Given the description of an element on the screen output the (x, y) to click on. 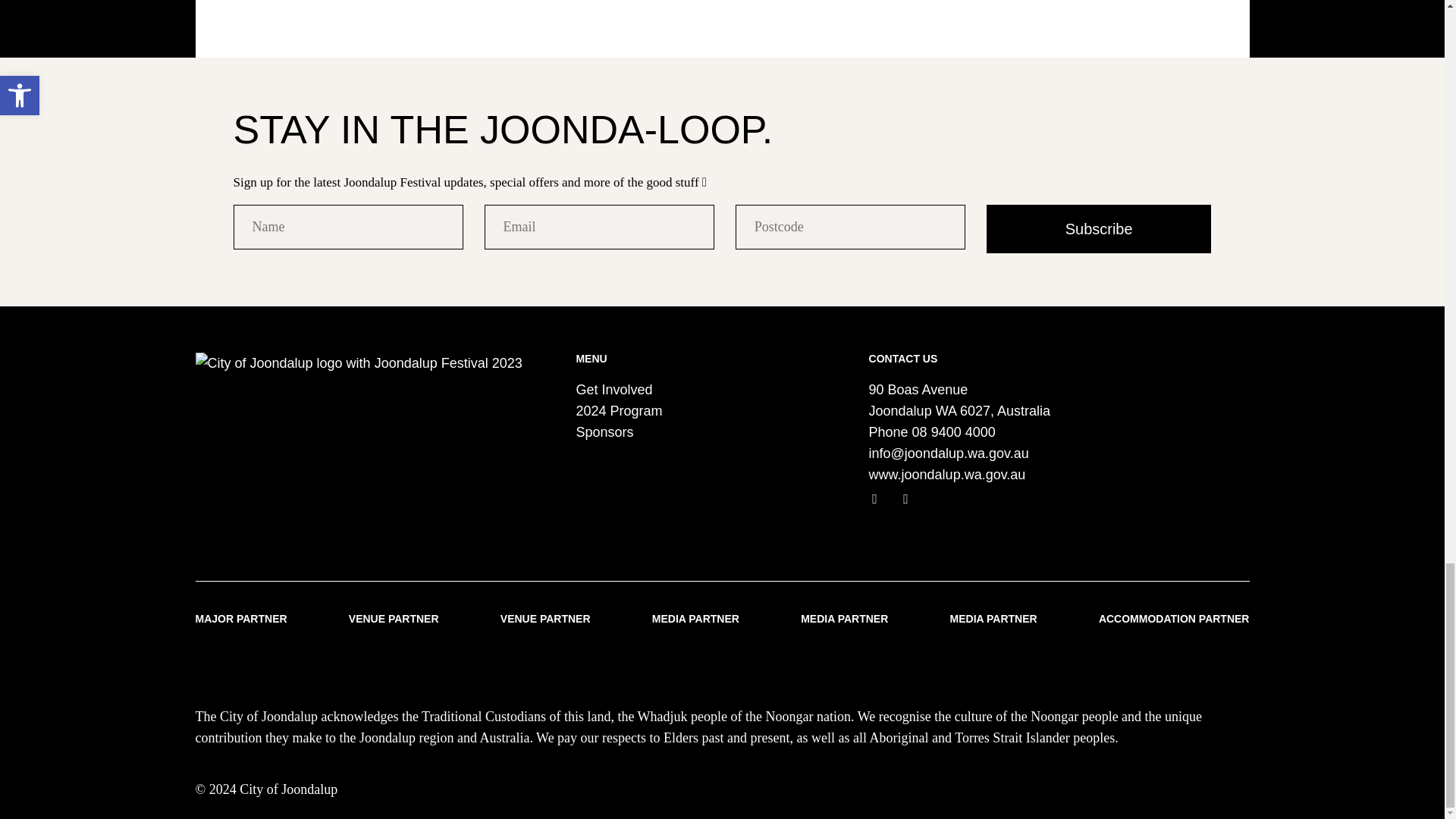
www.joondalup.wa.gov.au (947, 474)
Subscribe (1099, 228)
Get Involved (613, 389)
2024 Program (618, 410)
Sponsors (604, 432)
